Given the description of an element on the screen output the (x, y) to click on. 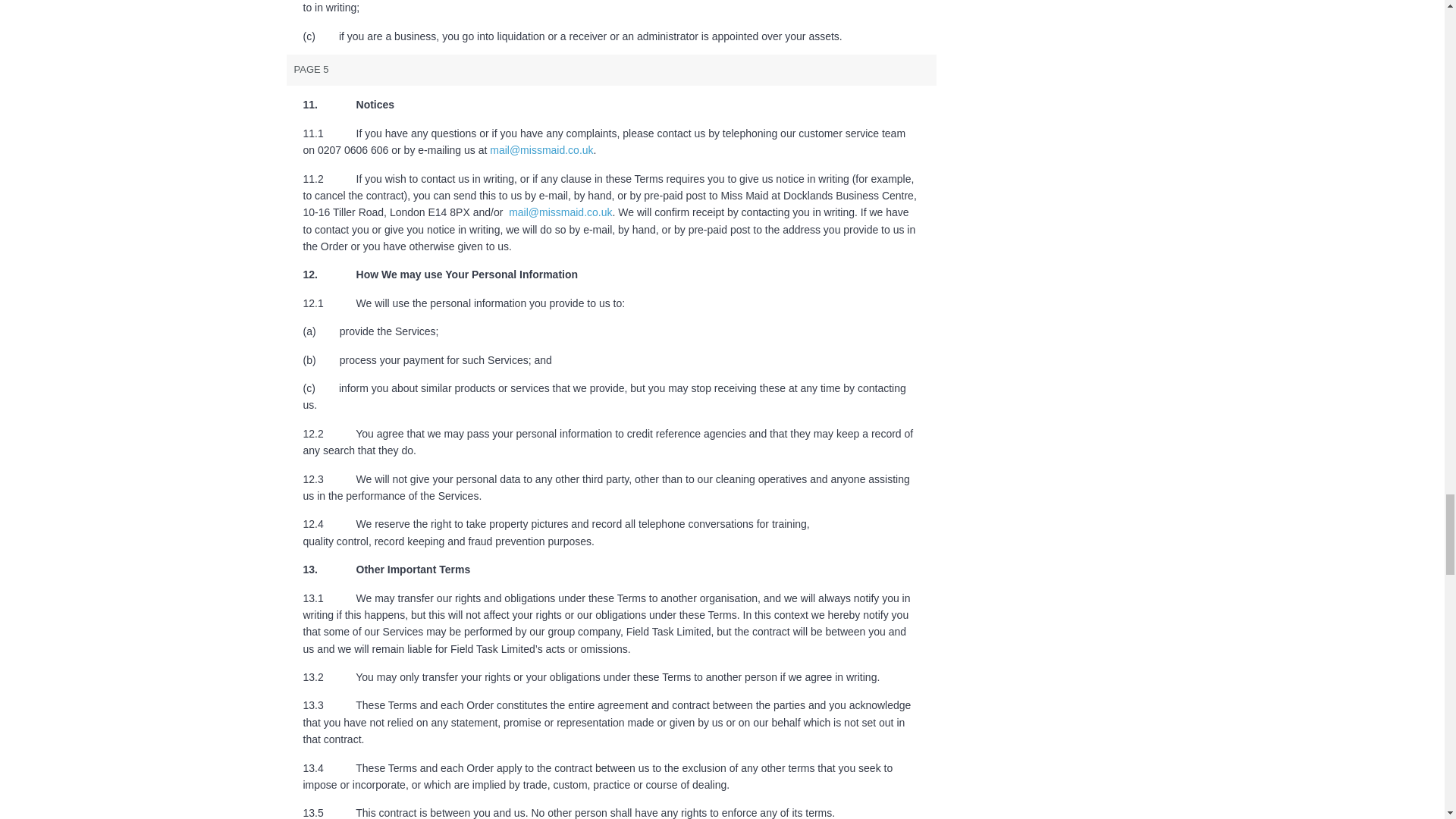
PAGE 5 (611, 69)
